Given the description of an element on the screen output the (x, y) to click on. 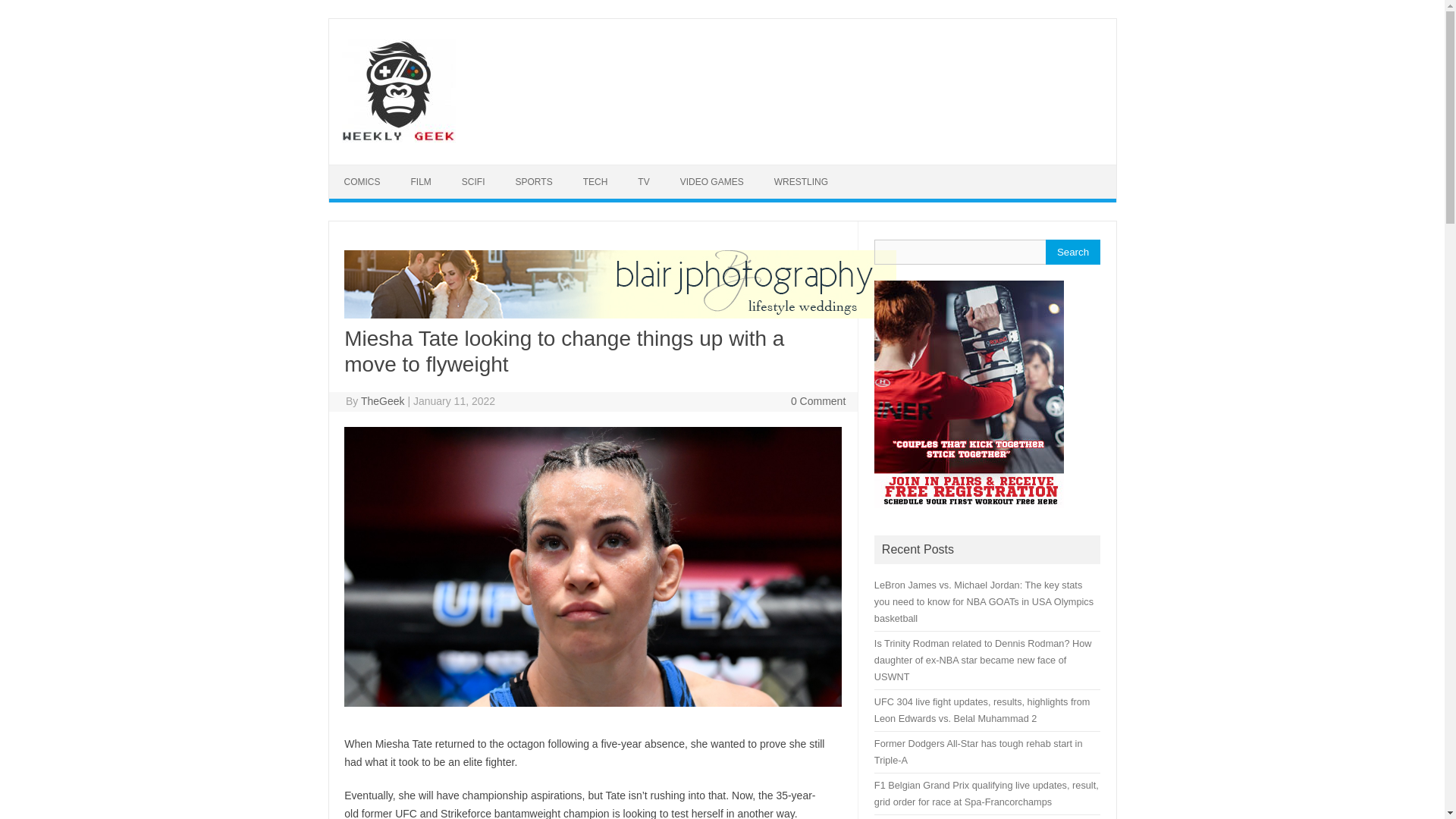
Search (1072, 251)
COMICS (362, 182)
Former Dodgers All-Star has tough rehab start in Triple-A (979, 751)
VIDEO GAMES (711, 182)
TECH (595, 182)
Posts by TheGeek (382, 400)
WRESTLING (800, 182)
FILM (421, 182)
SCIFI (473, 182)
TheGeek (382, 400)
Weekly Geek (397, 138)
SPORTS (533, 182)
